Given the description of an element on the screen output the (x, y) to click on. 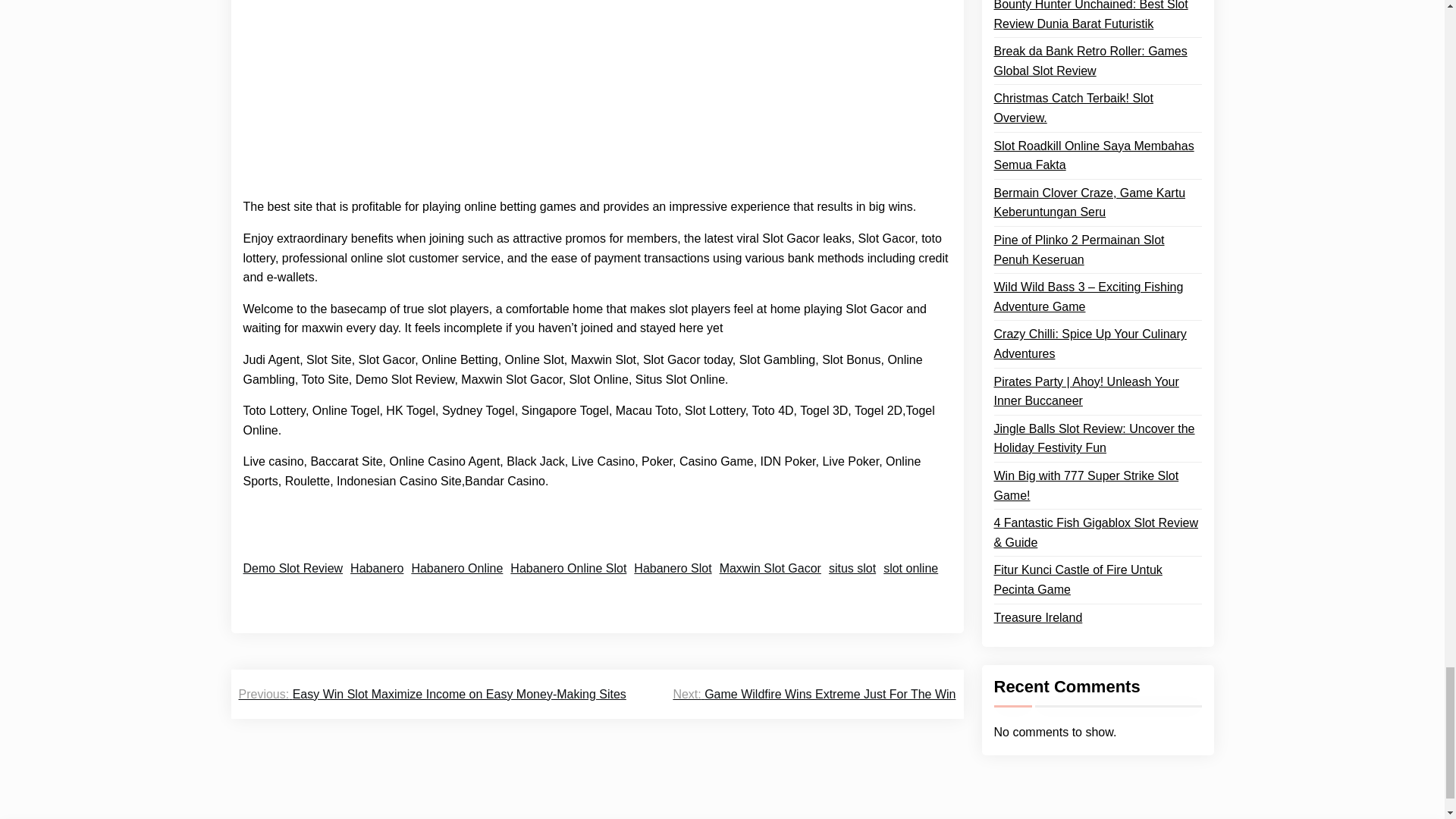
Demo Slot Review (292, 568)
Habanero Online (456, 568)
Habanero (376, 568)
